Given the description of an element on the screen output the (x, y) to click on. 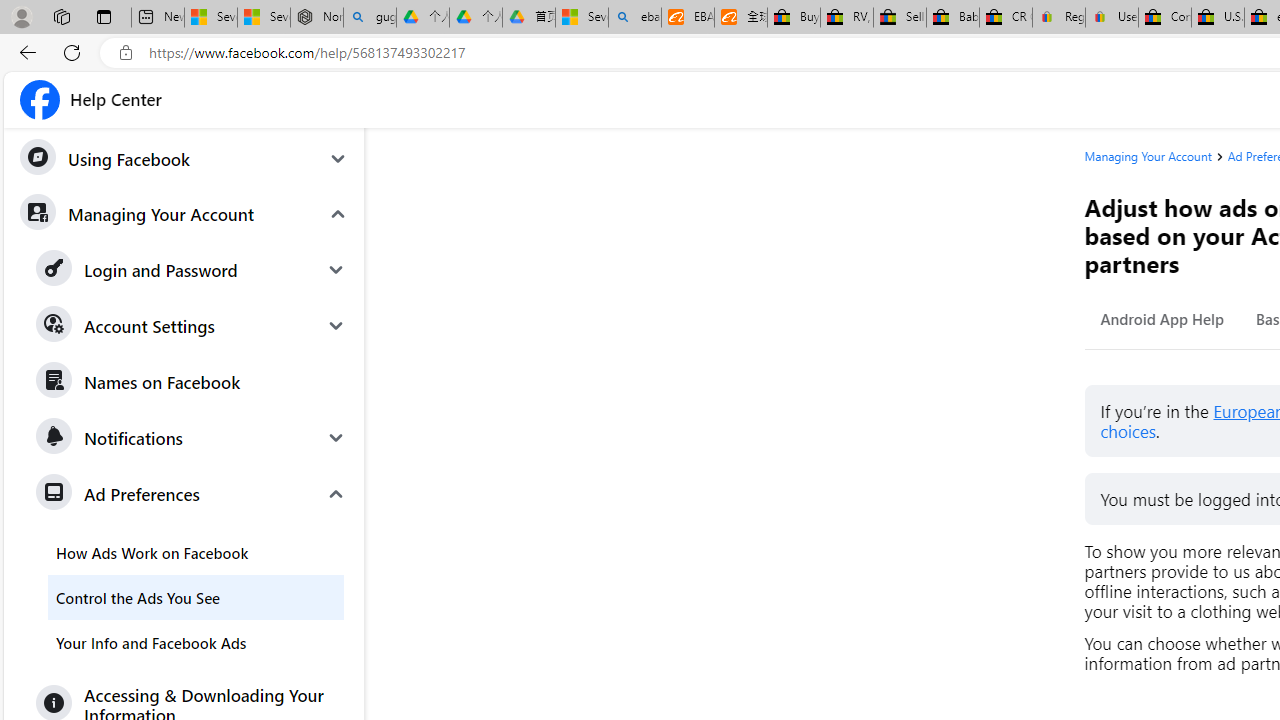
Register: Create a personal eBay account (1059, 17)
Control the Ads You See (196, 596)
U.S. State Privacy Disclosures - eBay Inc. (1217, 17)
Facebook Help Center (91, 99)
Managing Your Account (183, 213)
Ad Preferences Expand (191, 493)
Control the Ads You See (195, 596)
Account Settings Expand (191, 326)
Login and Password (191, 269)
